Given the description of an element on the screen output the (x, y) to click on. 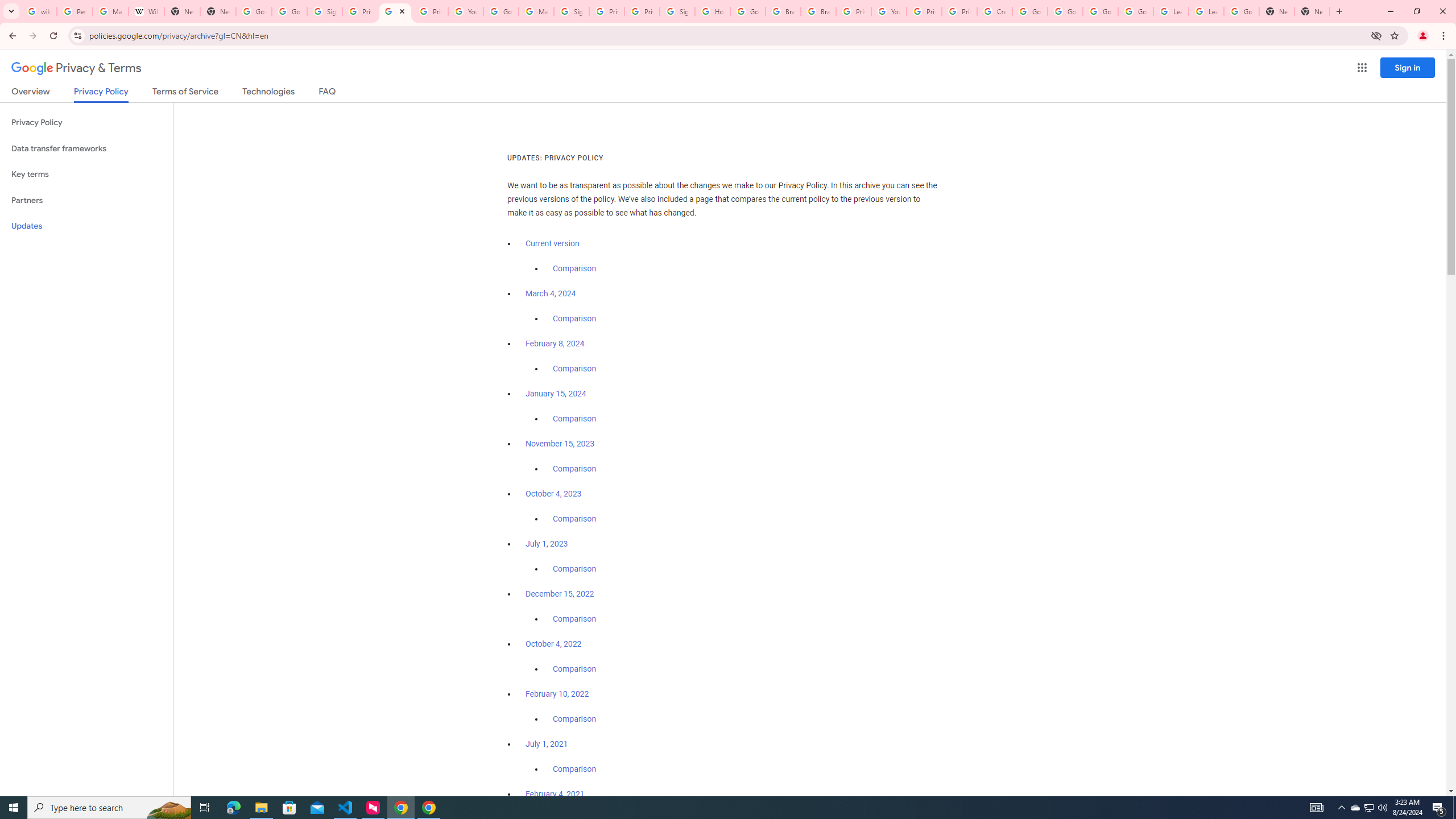
Brand Resource Center (817, 11)
Current version (552, 243)
Data transfer frameworks (86, 148)
Google Account Help (1064, 11)
Google Account Help (1135, 11)
October 4, 2022 (553, 643)
FAQ (327, 93)
Google Account Help (501, 11)
February 4, 2021 (555, 793)
YouTube (465, 11)
